Given the description of an element on the screen output the (x, y) to click on. 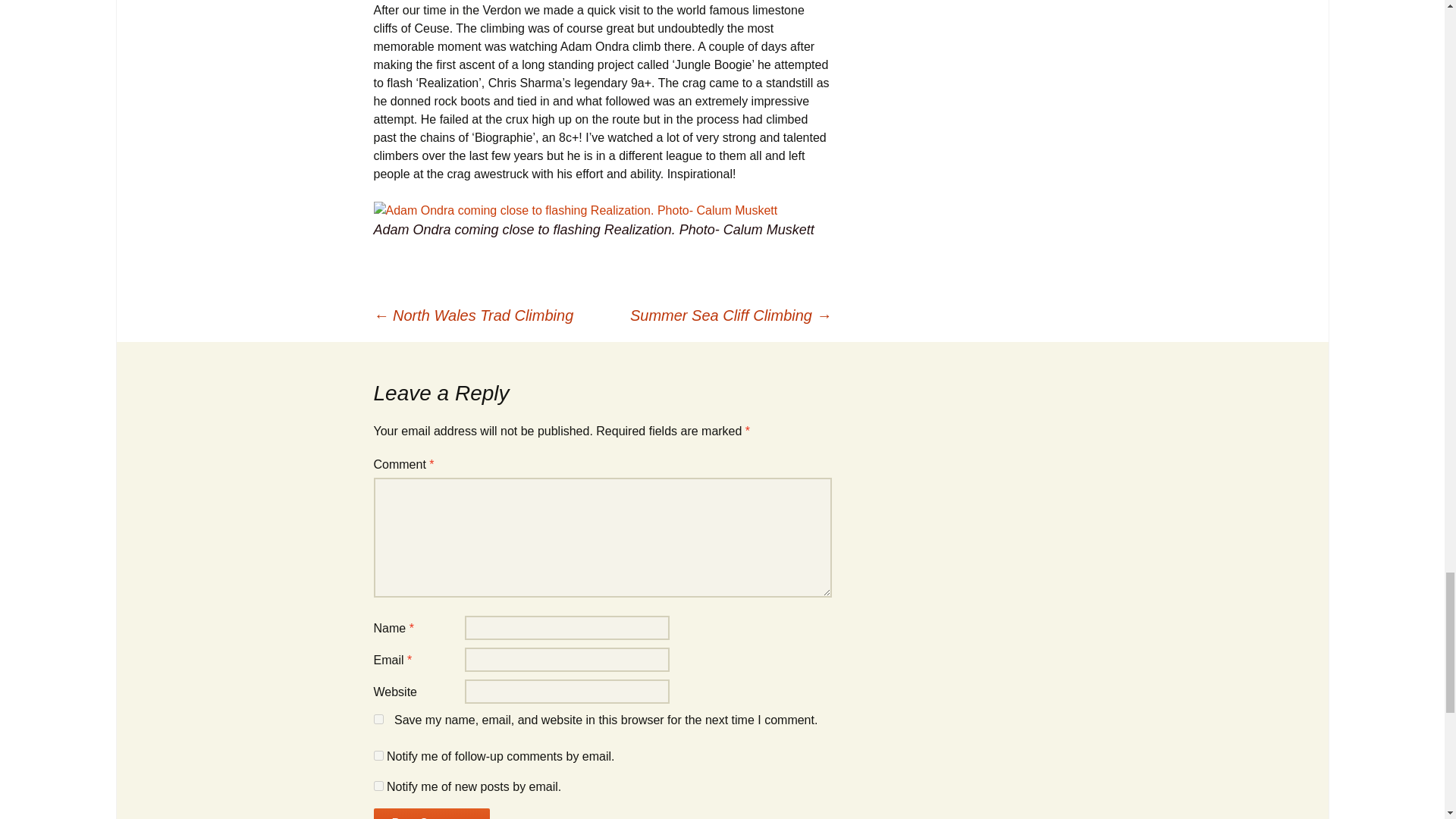
subscribe (377, 786)
subscribe (377, 755)
yes (377, 718)
Post Comment (430, 813)
Post Comment (430, 813)
